Given the description of an element on the screen output the (x, y) to click on. 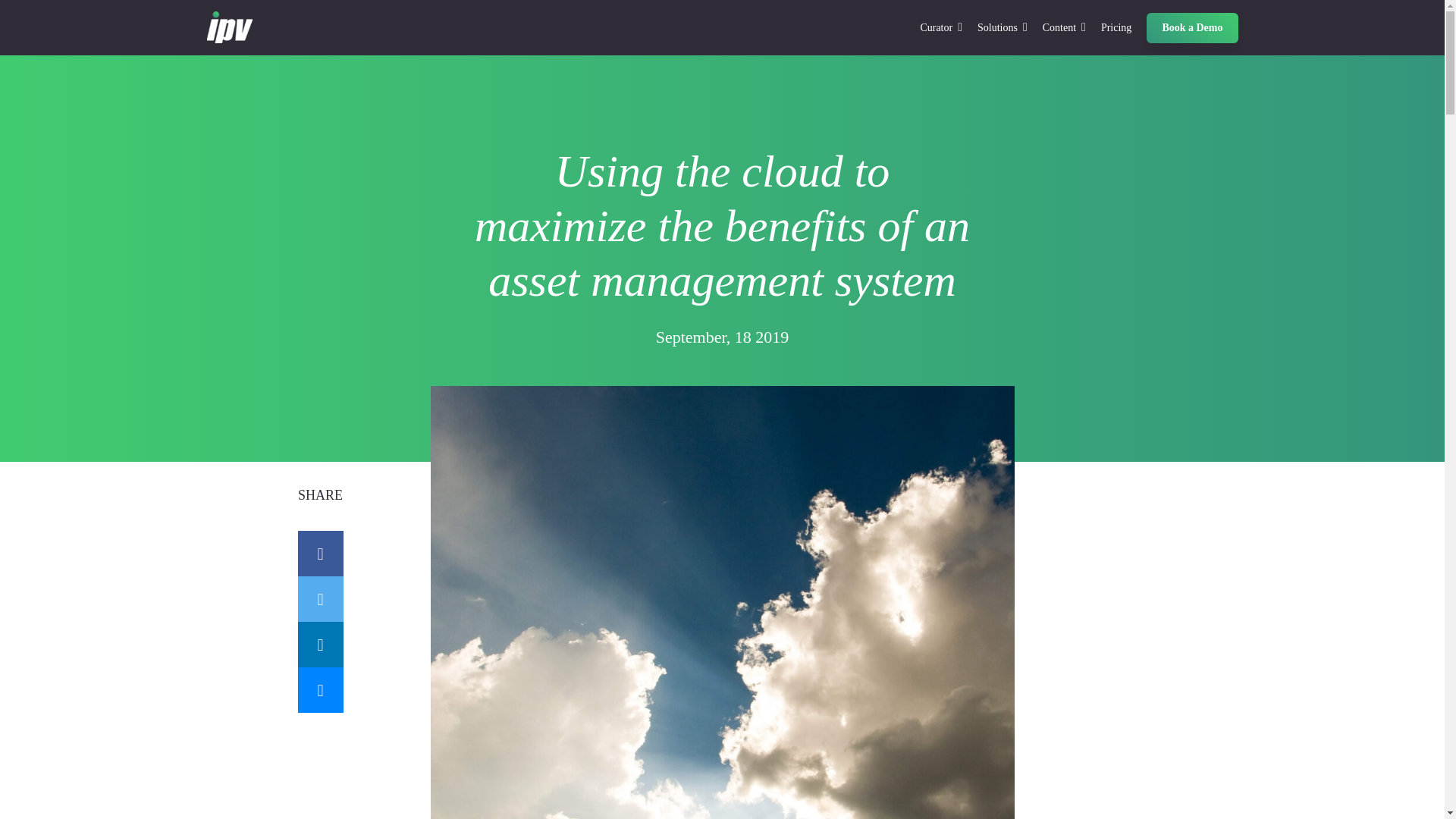
Curator (941, 27)
Pricing (1115, 27)
Book a Demo (1192, 27)
email (319, 689)
IPV-Logo-White-80x56 (228, 27)
twitter (319, 598)
Content (1064, 27)
linkedin (319, 644)
Solutions (1001, 27)
facebook (319, 553)
